Given the description of an element on the screen output the (x, y) to click on. 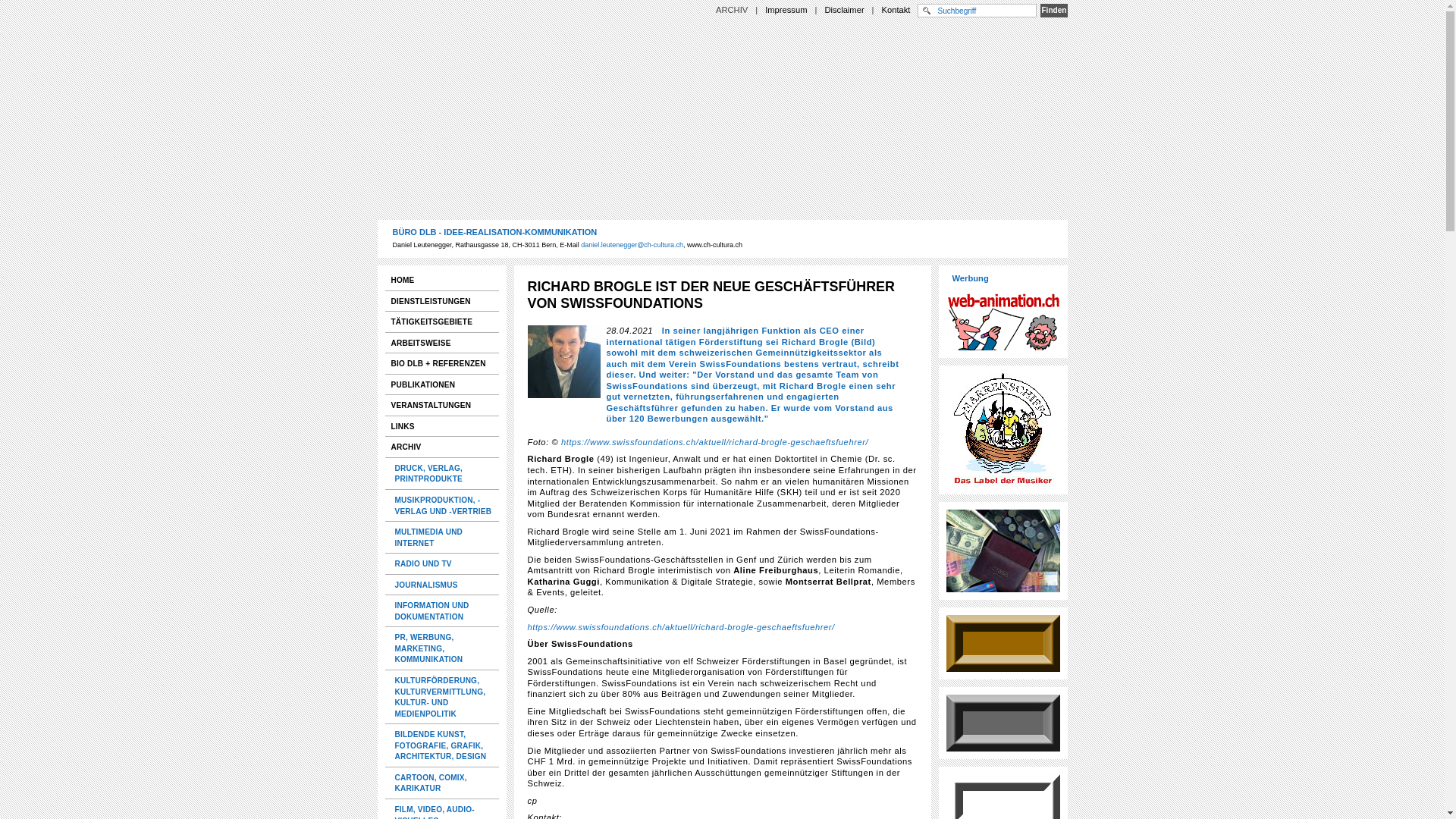
ARBEITSWEISE Element type: text (441, 342)
PR, WERBUNG, MARKETING, KOMMUNIKATION Element type: text (443, 648)
web-animation.ch Element type: hover (1003, 319)
VERANSTALTUNGEN Element type: text (441, 405)
Kontakt Element type: text (895, 9)
LINKS Element type: text (441, 426)
Impressum Element type: text (785, 9)
Finden Element type: text (1053, 10)
PUBLIKATIONEN Element type: text (441, 384)
ARCHIV Element type: text (731, 9)
HOME Element type: text (441, 279)
DRUCK, VERLAG, PRINTPRODUKTE Element type: text (443, 473)
INFORMATION UND DOKUMENTATION Element type: text (443, 610)
DIENSTLEISTUNGEN Element type: text (441, 301)
CARTOON, COMIX, KARIKATUR Element type: text (443, 782)
RADIO UND TV Element type: text (443, 563)
MUSIKPRODUKTION, -VERLAG UND -VERTRIEB Element type: text (443, 504)
BIO DLB + REFERENZEN Element type: text (441, 363)
MULTIMEDIA UND INTERNET Element type: text (443, 536)
Disclaimer Element type: text (843, 9)
Home Element type: hover (722, 441)
ARCHIV Element type: text (441, 446)
Kanal K, Aarau Element type: hover (1003, 722)
UCT Radio, Cape Town Element type: hover (1003, 643)
JOURNALISMUS Element type: text (443, 584)
BILDENDE KUNST, FOTOGRAFIE, GRAFIK, ARCHITEKTUR, DESIGN Element type: text (443, 745)
m-e-r-c-i- Element type: hover (1003, 550)
daniel.leutenegger@ch-cultura.ch Element type: text (631, 244)
Narrenschiff-Label Element type: hover (1003, 429)
